Given the description of an element on the screen output the (x, y) to click on. 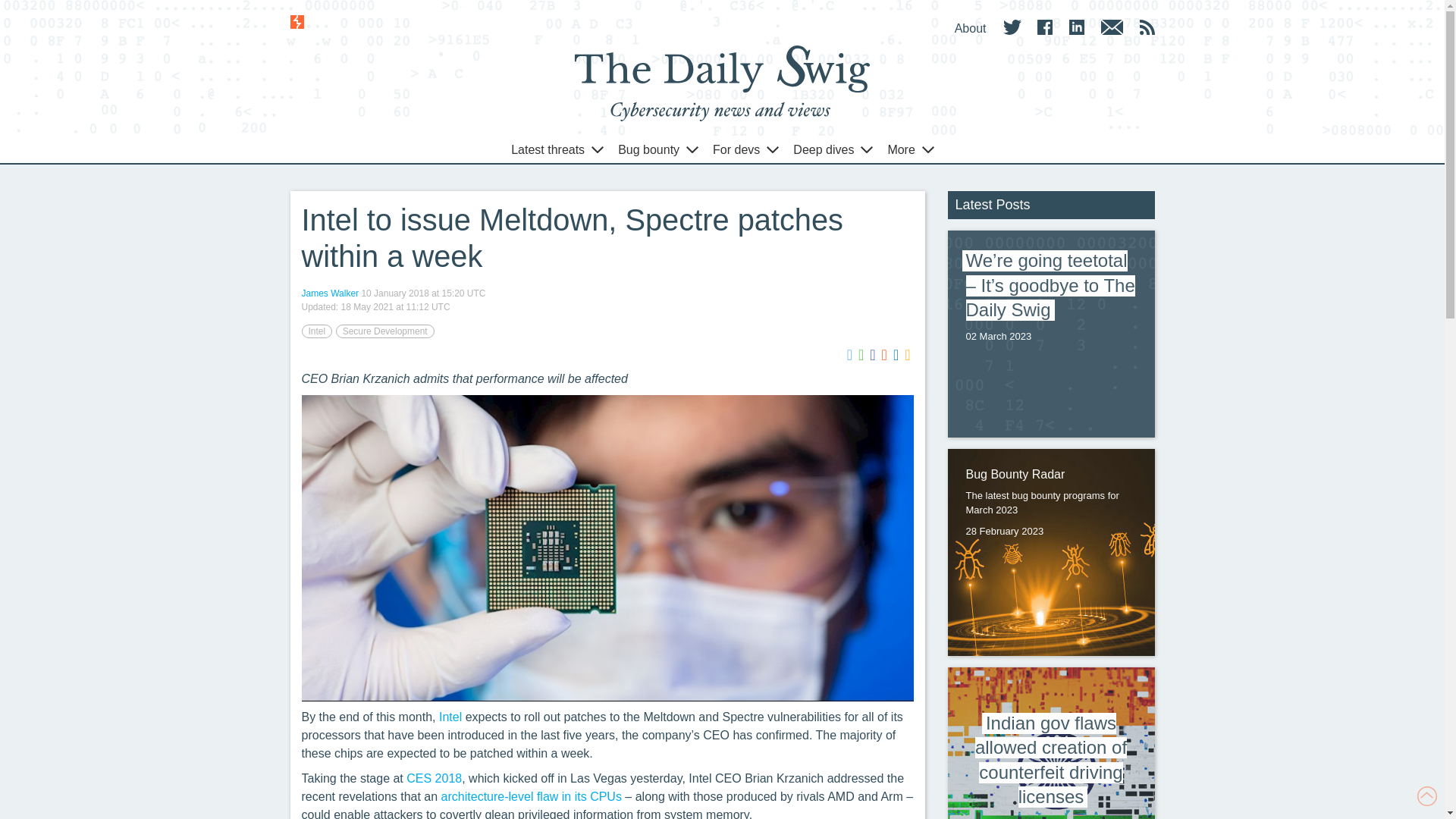
Intel (317, 331)
Secure Development (384, 331)
James Walker (330, 293)
